Given the description of an element on the screen output the (x, y) to click on. 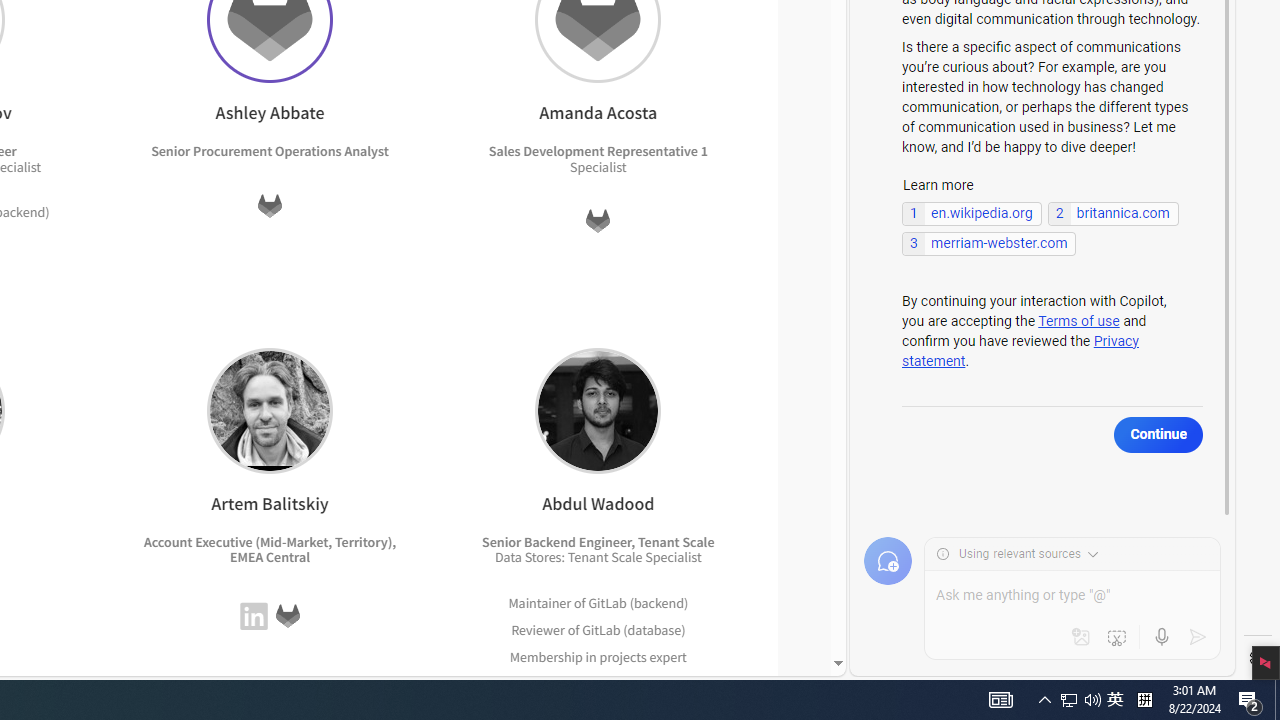
Sales Development Representative 1 (597, 151)
Maintainer of GitLab (backend) (598, 601)
Membership in groups (578, 682)
Abdul Wadood (598, 409)
Reviewer (537, 629)
GitLab (287, 616)
Artem Balitskiy (269, 409)
Senior Backend Engineer (557, 541)
Account Executive (Mid-Market, Territory), EMEA Central (269, 549)
Specialist (673, 557)
Abdul Wadood (598, 410)
Maintainer (540, 602)
Membership in projects (577, 656)
